Given the description of an element on the screen output the (x, y) to click on. 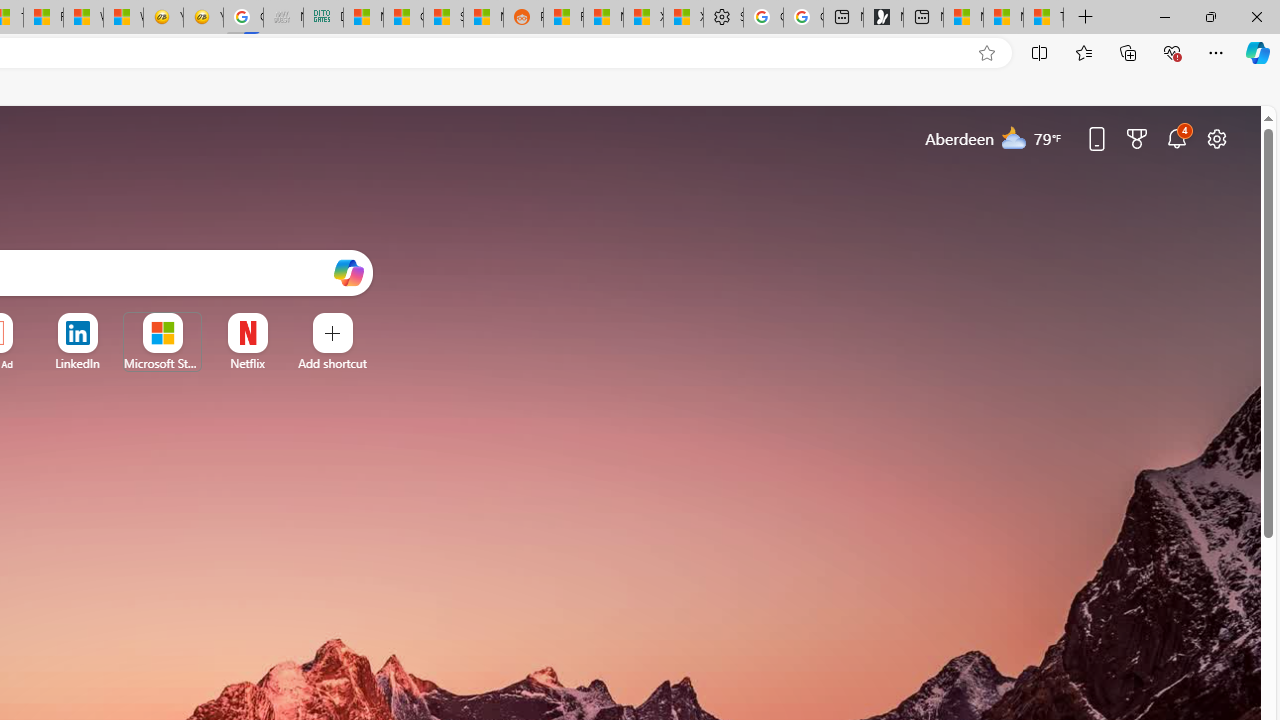
LinkedIn (77, 363)
Page settings (1216, 138)
